Given the description of an element on the screen output the (x, y) to click on. 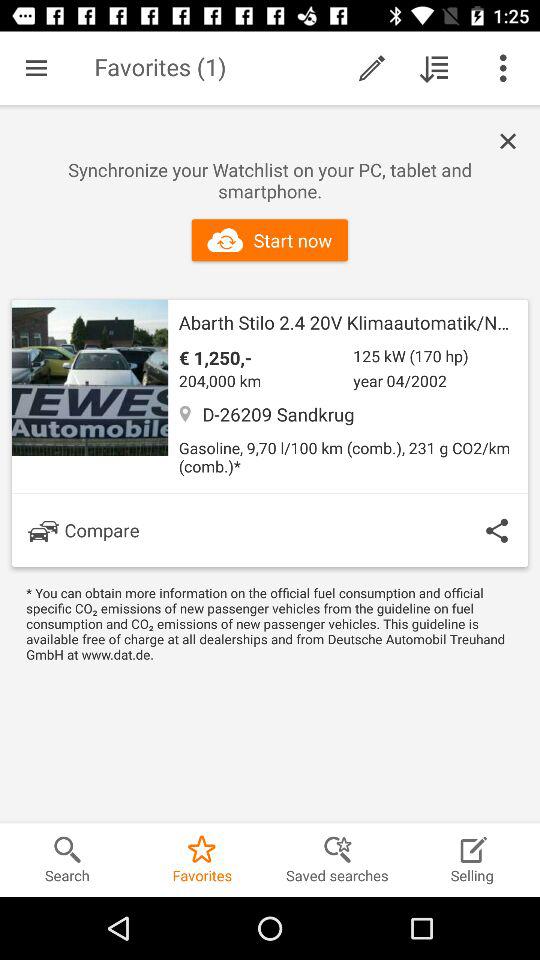
open item next to the favorites (1) icon (36, 68)
